Given the description of an element on the screen output the (x, y) to click on. 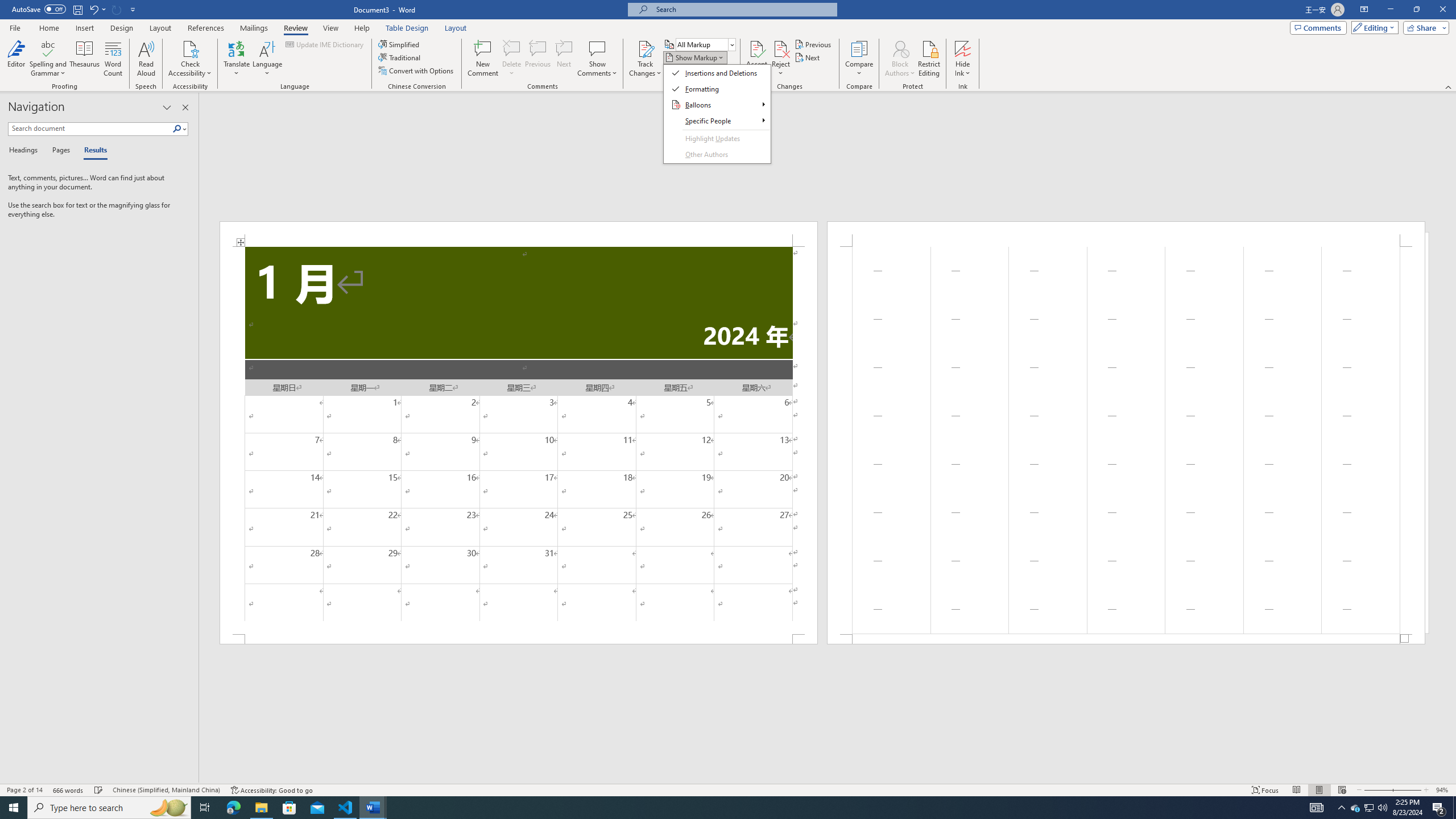
Accept and Move to Next (756, 48)
&Show Markup (716, 113)
Page 2 content (1126, 439)
Check Accessibility (189, 58)
Spelling and Grammar (48, 48)
Block Authors (900, 58)
Convert with Options... (417, 69)
Hide Ink (962, 48)
